Given the description of an element on the screen output the (x, y) to click on. 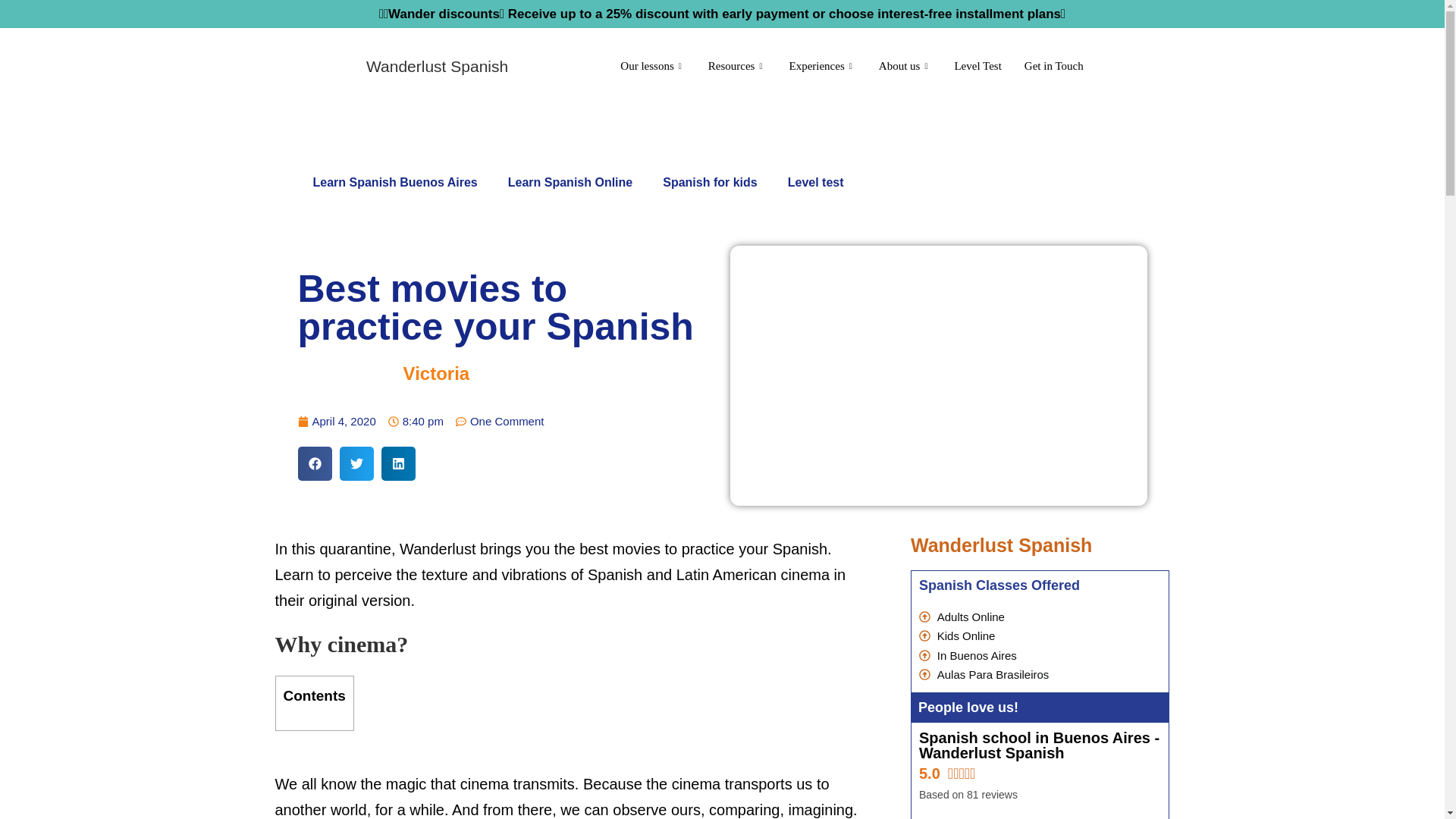
Experiences (821, 66)
Wanderlust Spanish (437, 66)
About us (905, 66)
Our lessons (651, 66)
Resources (737, 66)
